Given the description of an element on the screen output the (x, y) to click on. 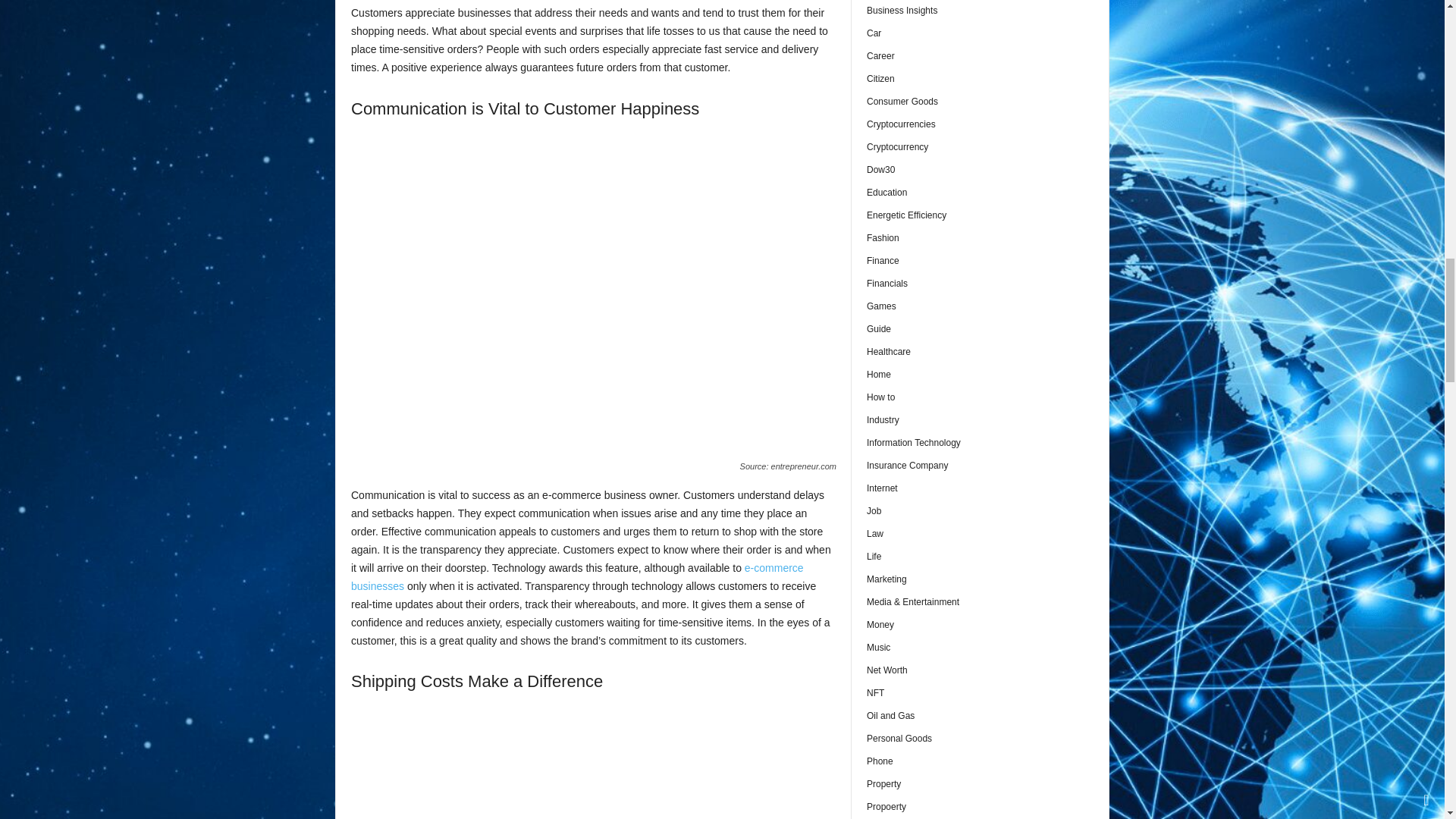
e-commerce businesses (576, 576)
